Given the description of an element on the screen output the (x, y) to click on. 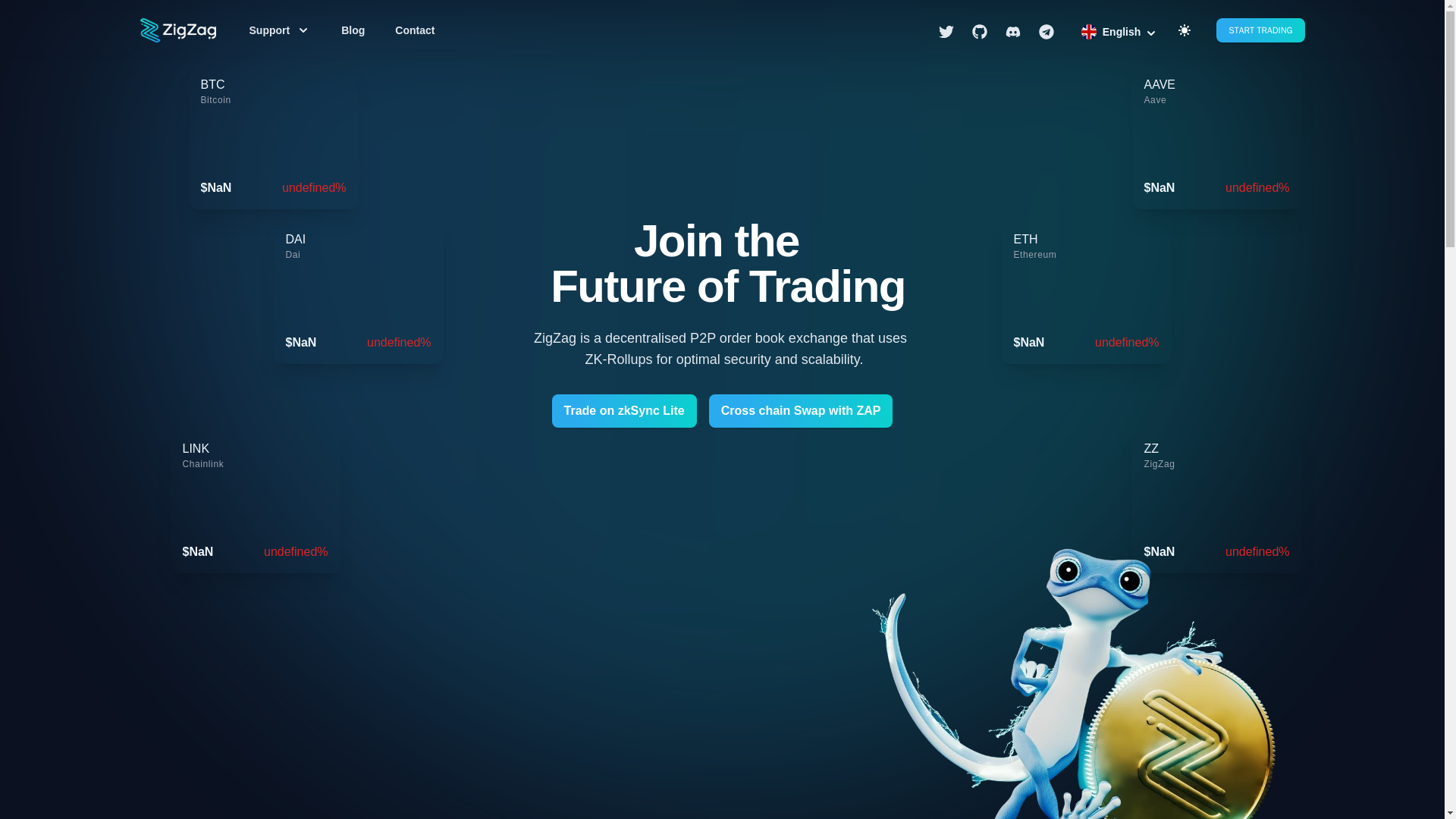
START TRADING (1259, 30)
Support (277, 30)
Trade on zkSync Lite (624, 410)
English (1118, 31)
Cross chain Swap with ZAP (801, 410)
Contact (413, 30)
Blog (352, 30)
